Given the description of an element on the screen output the (x, y) to click on. 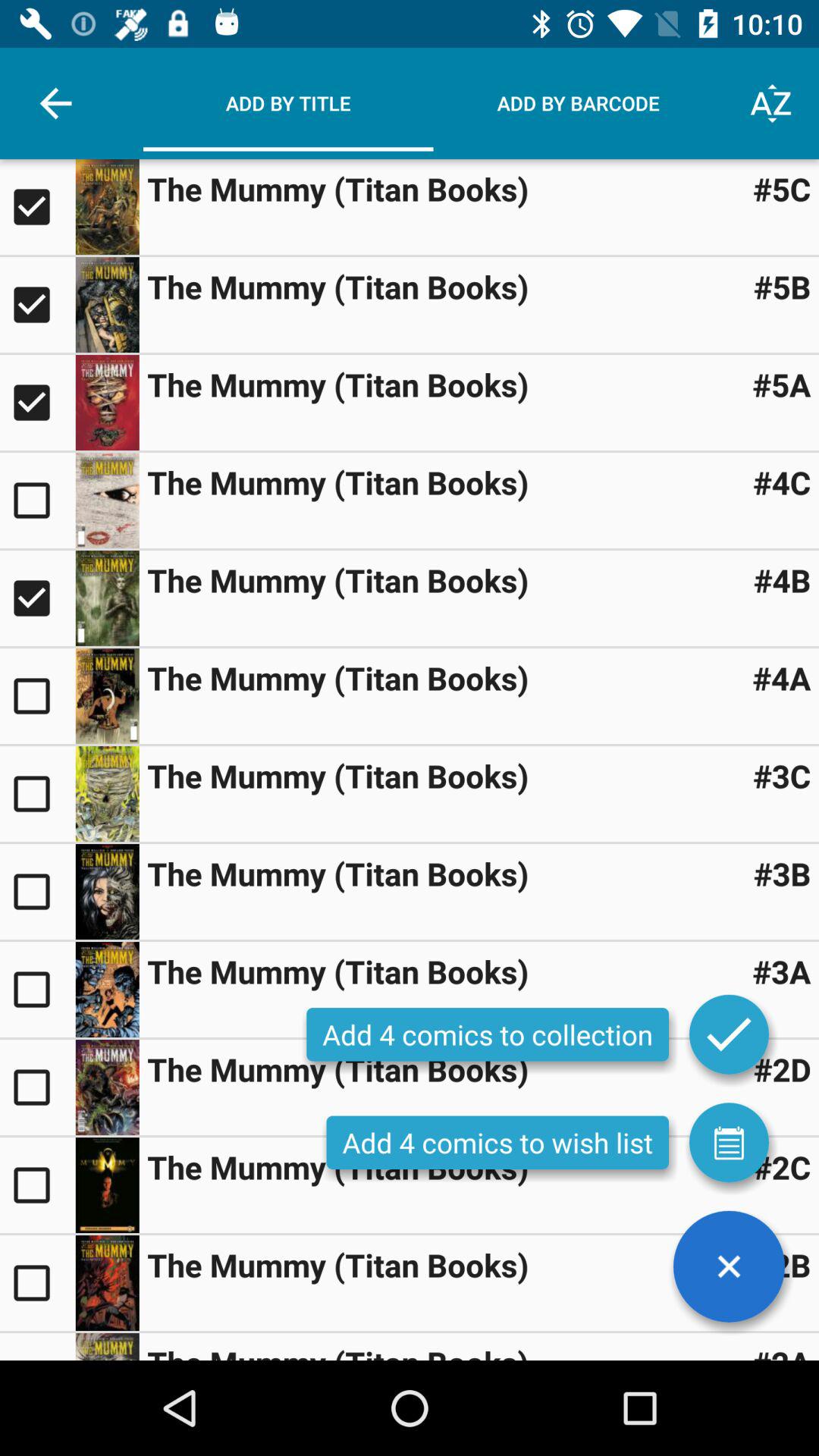
photo for title book (107, 1087)
